Given the description of an element on the screen output the (x, y) to click on. 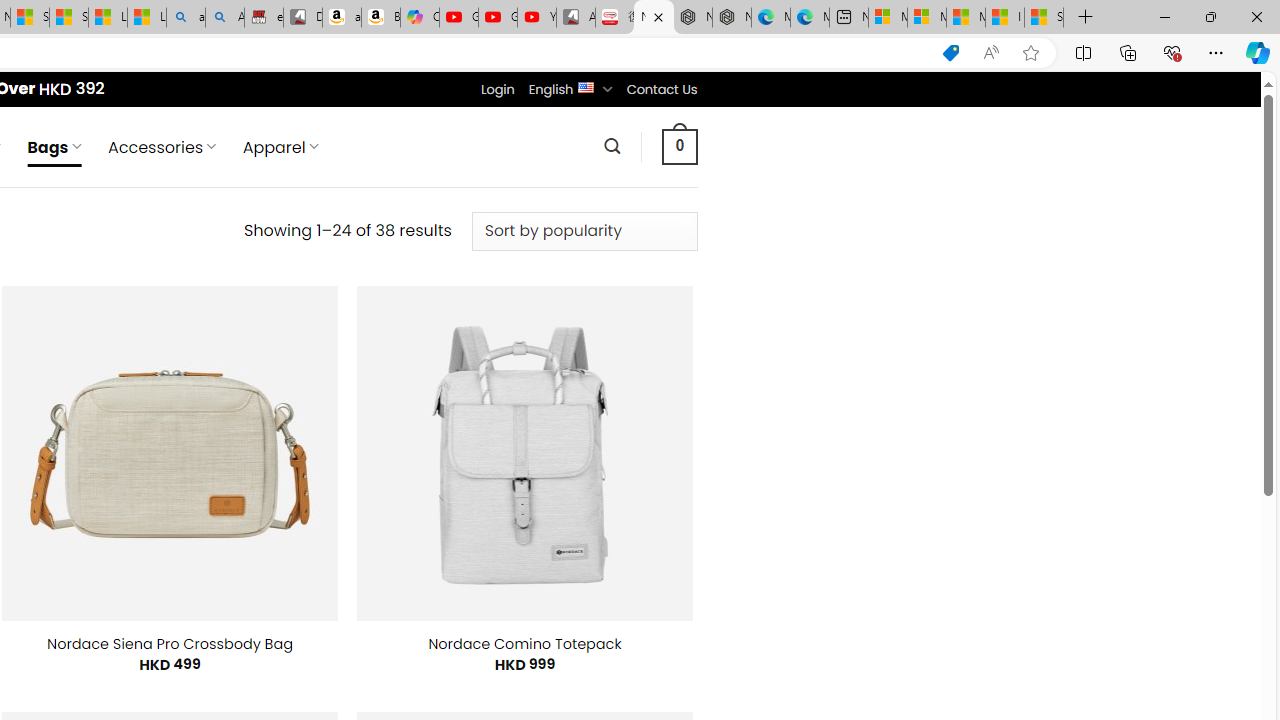
Login (497, 89)
Microsoft Start (966, 17)
amazon - Search (185, 17)
This site has coupons! Shopping in Microsoft Edge (950, 53)
amazon.in/dp/B0CX59H5W7/?tag=gsmcom05-21 (341, 17)
I Gained 20 Pounds of Muscle in 30 Days! | Watch (1004, 17)
YouTube Kids - An App Created for Kids to Explore Content (536, 17)
Contact Us (661, 89)
Gloom - YouTube (497, 17)
